Given the description of an element on the screen output the (x, y) to click on. 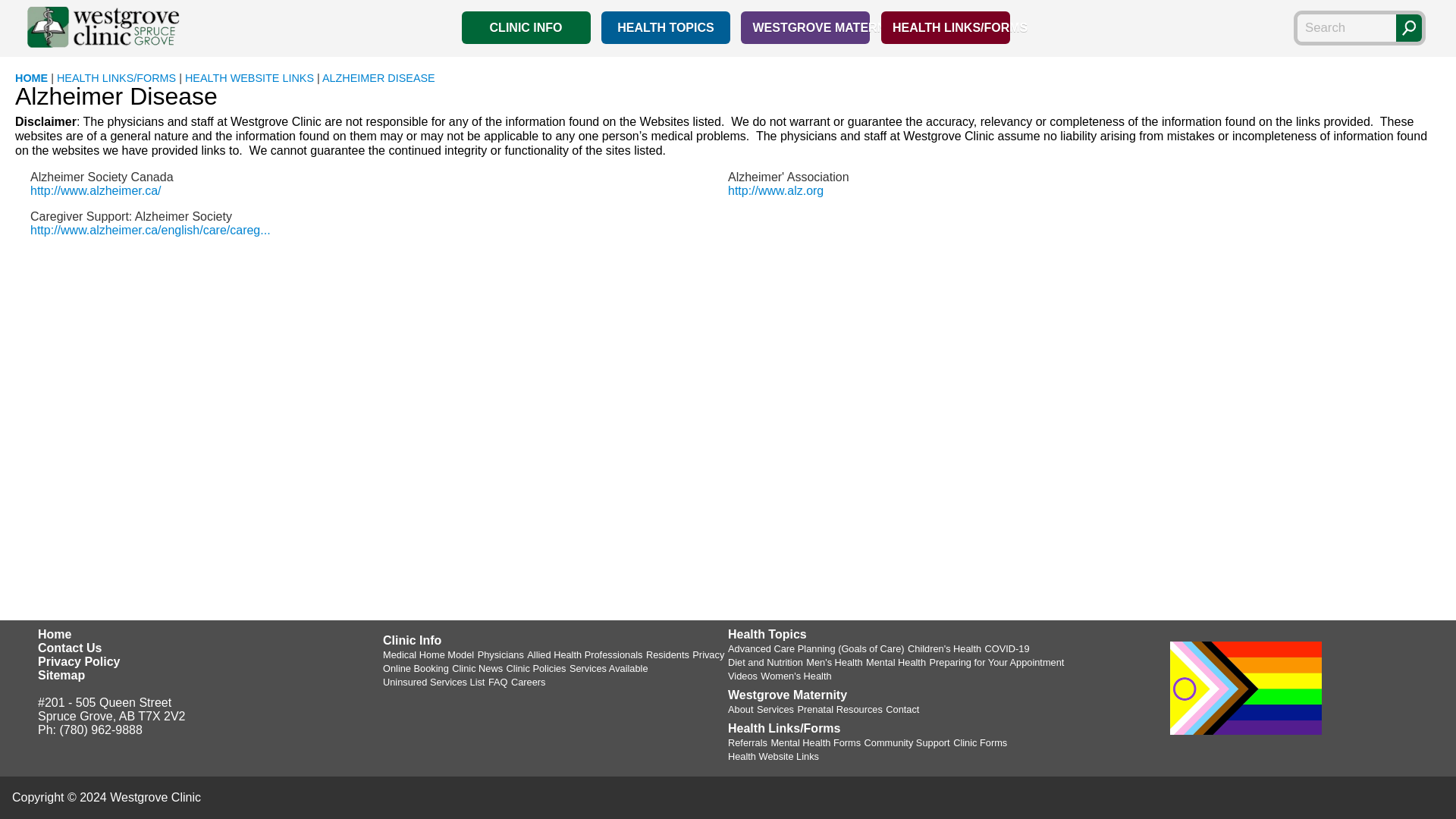
Search (1409, 27)
CLINIC INFO (526, 27)
